Given the description of an element on the screen output the (x, y) to click on. 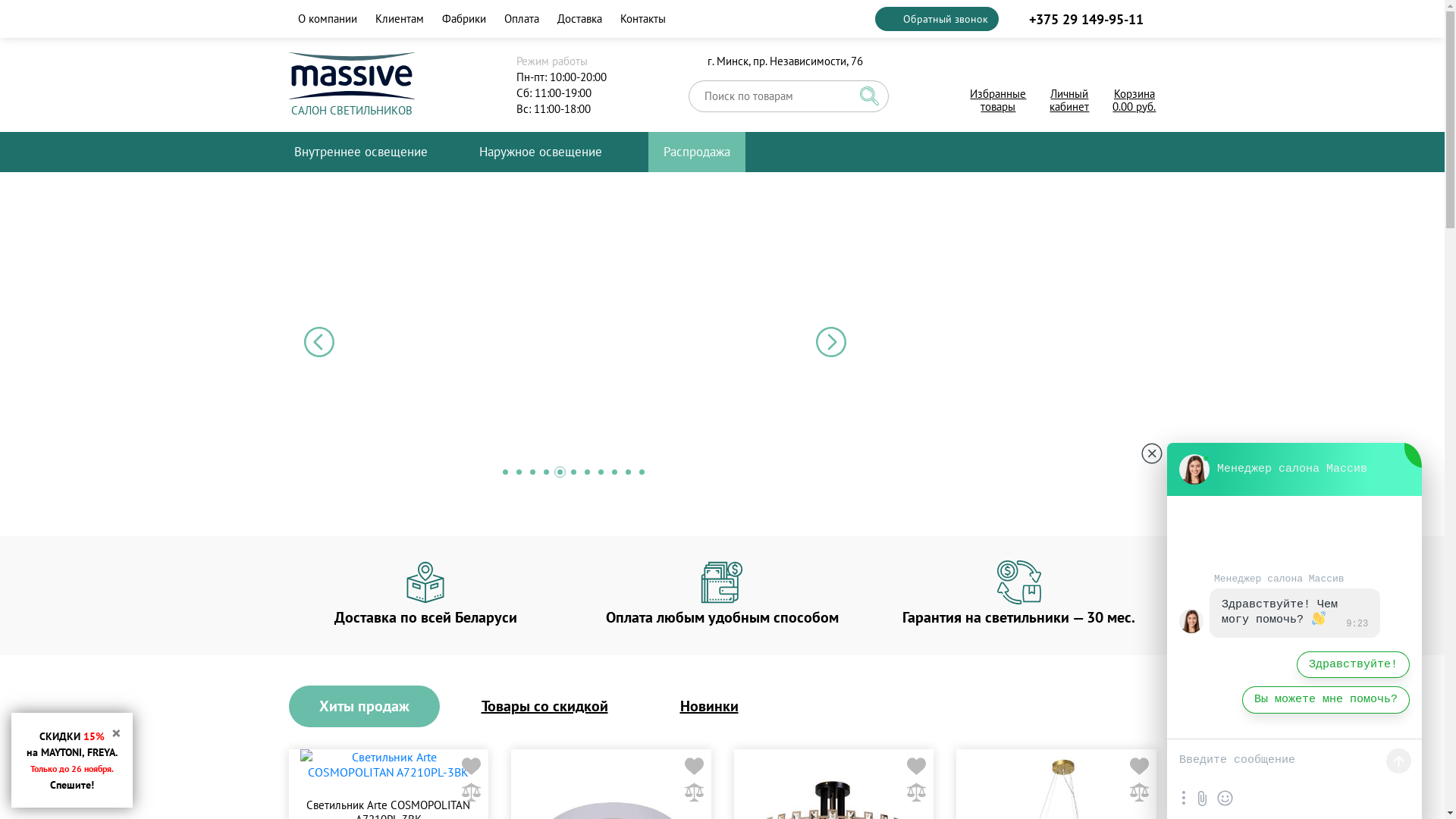
+375 29 149-95-11 Element type: text (1084, 18)
